Given the description of an element on the screen output the (x, y) to click on. 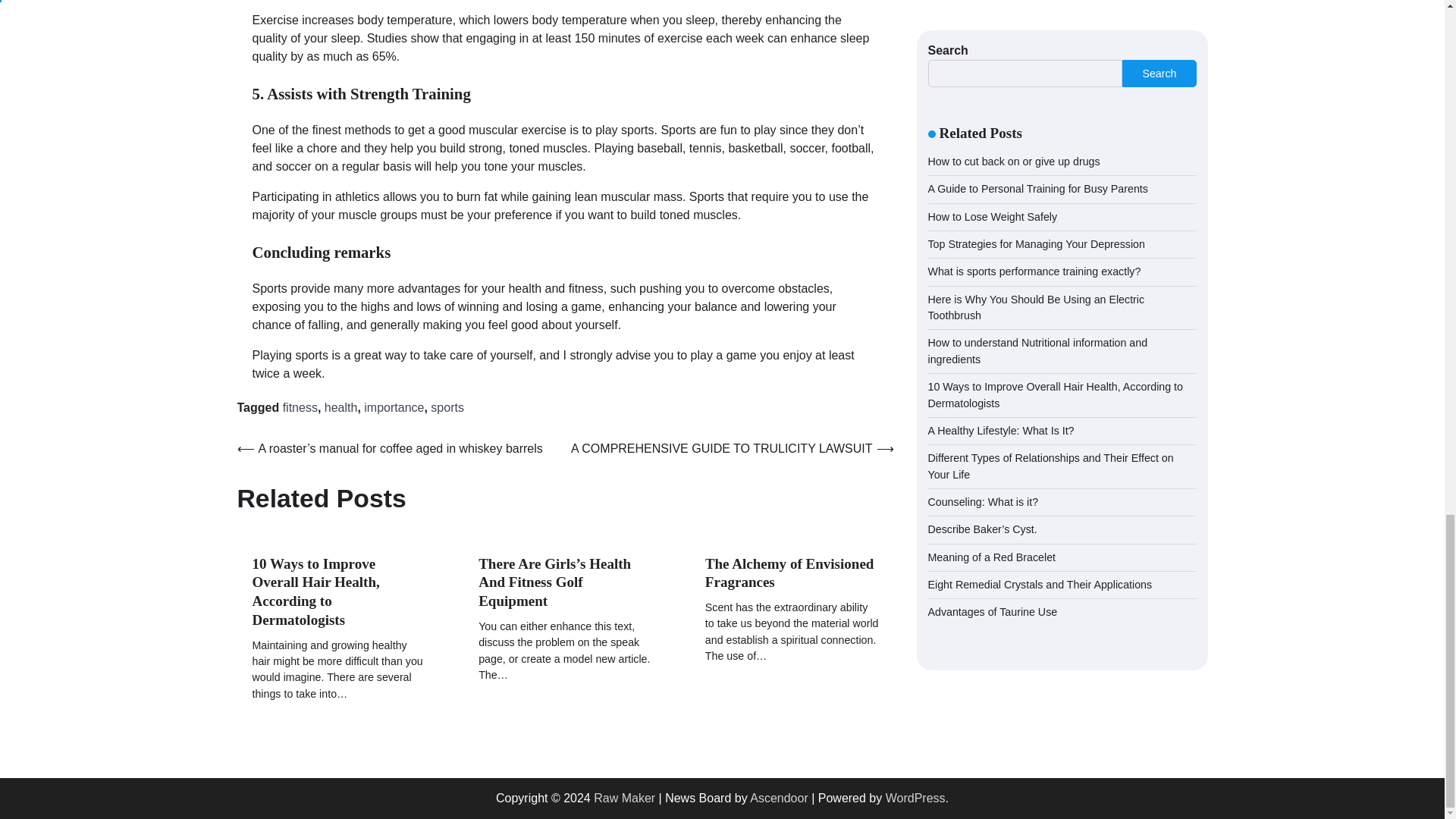
WordPress (914, 797)
health (341, 407)
The Alchemy of Envisioned Fragrances (789, 573)
Raw Maker (624, 797)
fitness (299, 407)
sports (447, 407)
Ascendoor (778, 797)
importance (393, 407)
